Given the description of an element on the screen output the (x, y) to click on. 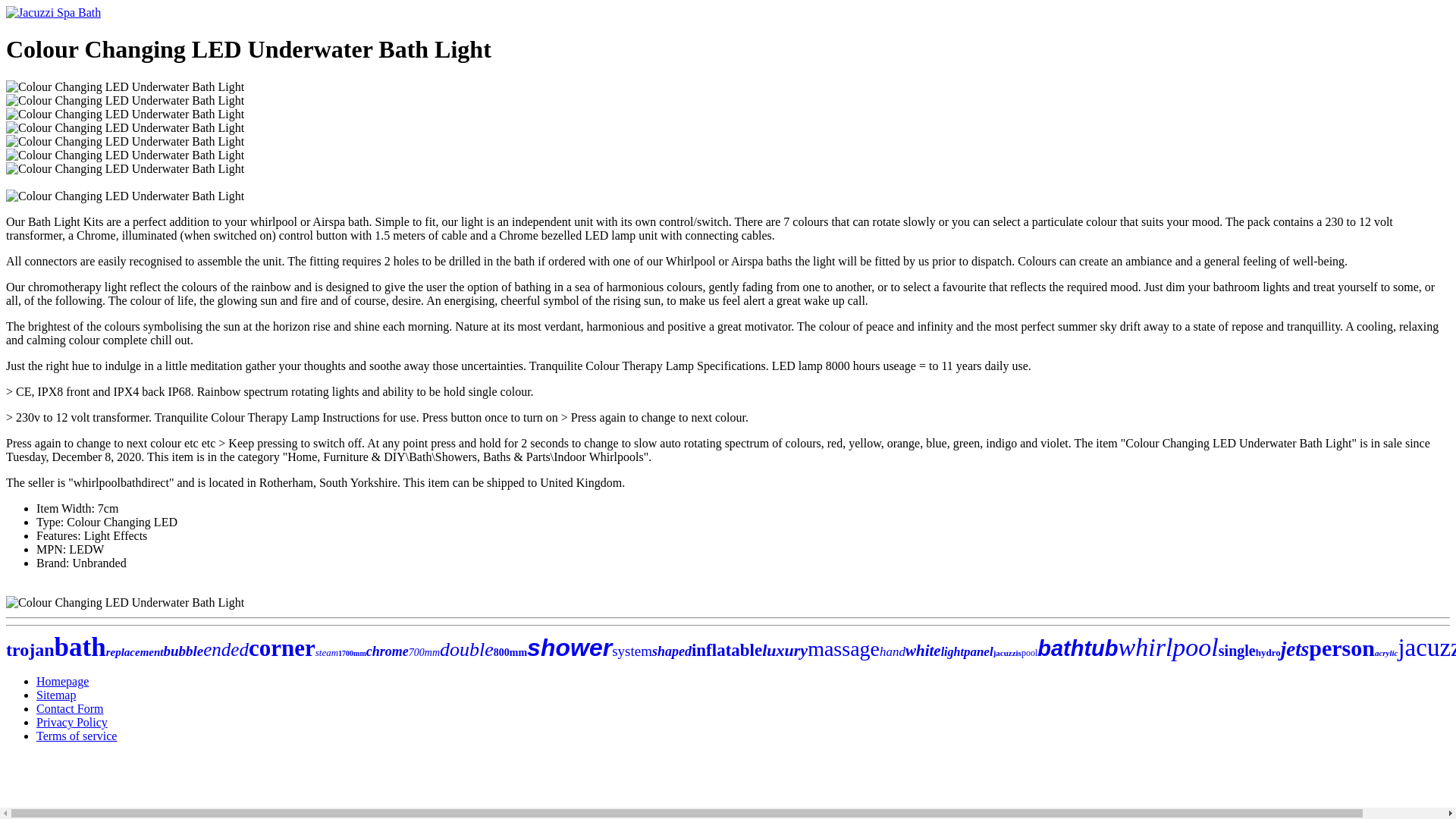
jacuzzis (1007, 652)
800mm (510, 652)
Colour Changing LED Underwater Bath Light (124, 100)
trojan (30, 649)
hand (892, 651)
Colour Changing LED Underwater Bath Light (124, 141)
bubble (183, 650)
Colour Changing LED Underwater Bath Light (124, 155)
bath (80, 646)
Colour Changing LED Underwater Bath Light (124, 114)
white (922, 650)
Colour Changing LED Underwater Bath Light (124, 128)
inflatable (726, 650)
corner (281, 647)
bathtub (1077, 648)
